Given the description of an element on the screen output the (x, y) to click on. 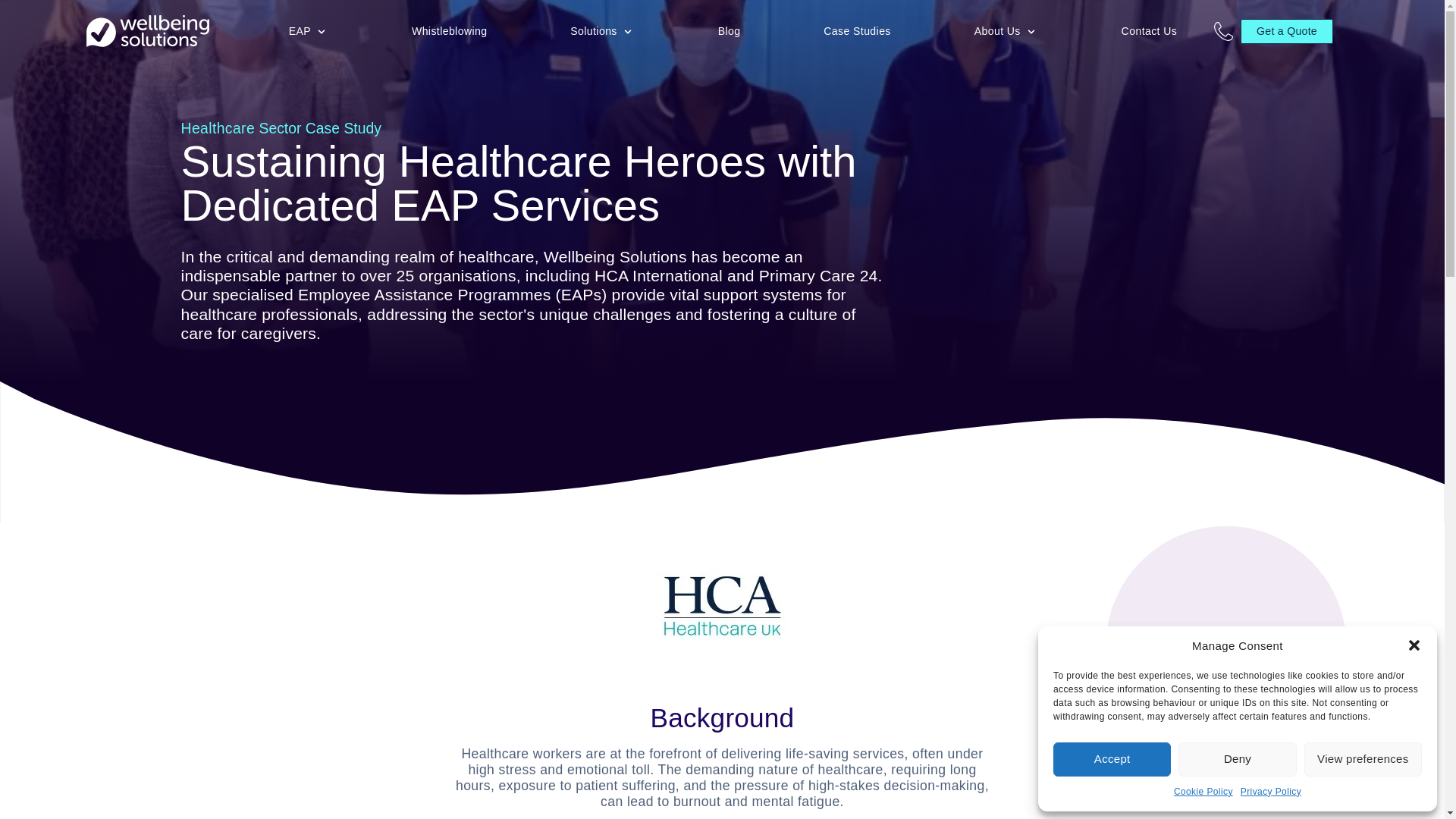
Privacy Policy (1270, 791)
View preferences (1363, 759)
Cookie Policy (1203, 791)
Deny (1236, 759)
Accept (1111, 759)
EAP (299, 31)
